Given the description of an element on the screen output the (x, y) to click on. 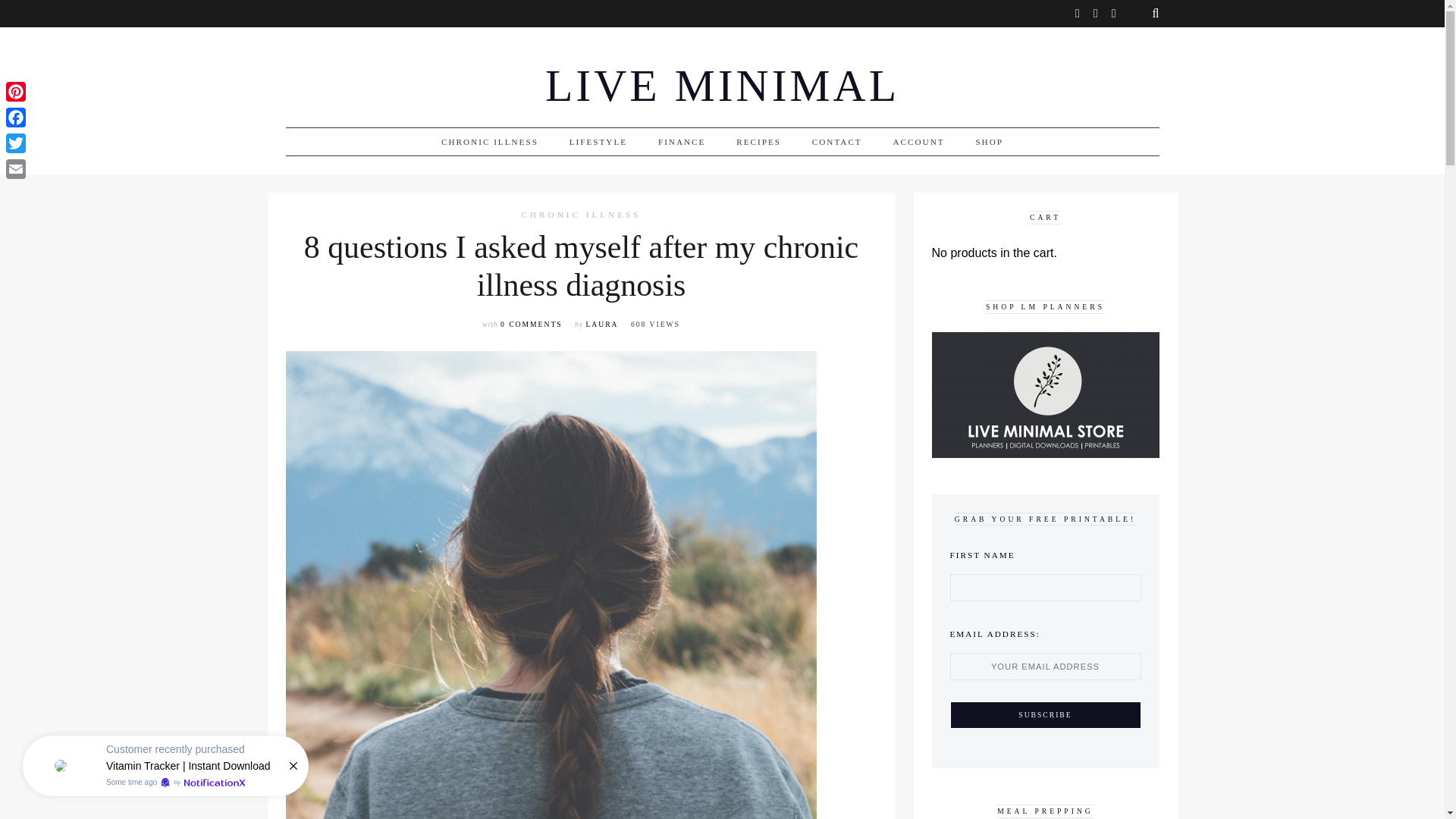
CHRONIC ILLNESS (489, 141)
Facebook (15, 117)
Twitter (15, 143)
FINANCE (681, 141)
SUBSCRIBE (1044, 714)
LAURA (601, 324)
Pinterest (15, 91)
0 COMMENTS (531, 324)
CONTACT (836, 141)
SHOP (989, 141)
LIFESTYLE (598, 141)
LIVE MINIMAL (721, 85)
ACCOUNT (918, 141)
RECIPES (758, 141)
CHRONIC ILLNESS (581, 215)
